Given the description of an element on the screen output the (x, y) to click on. 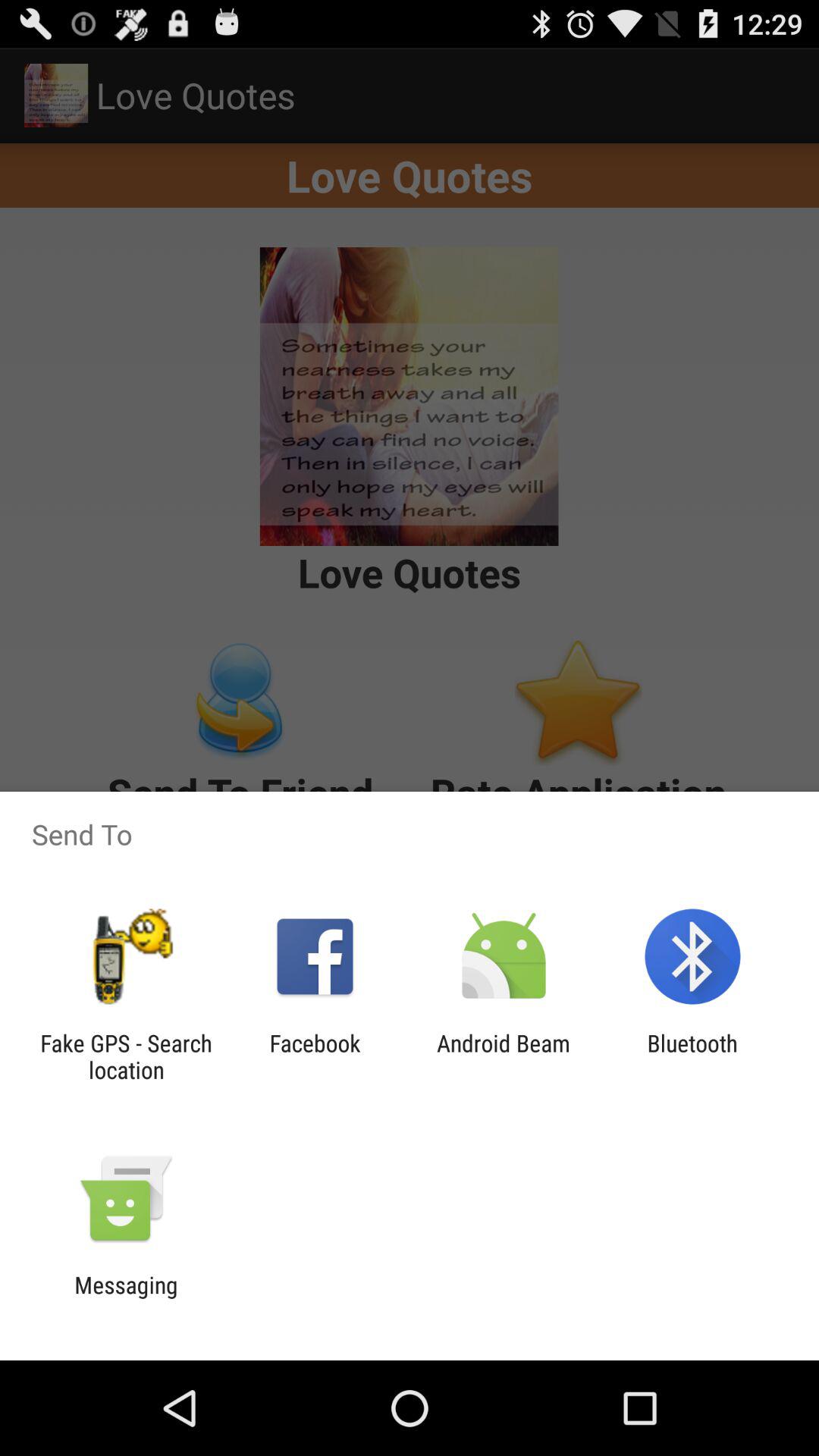
open app next to android beam app (314, 1056)
